Given the description of an element on the screen output the (x, y) to click on. 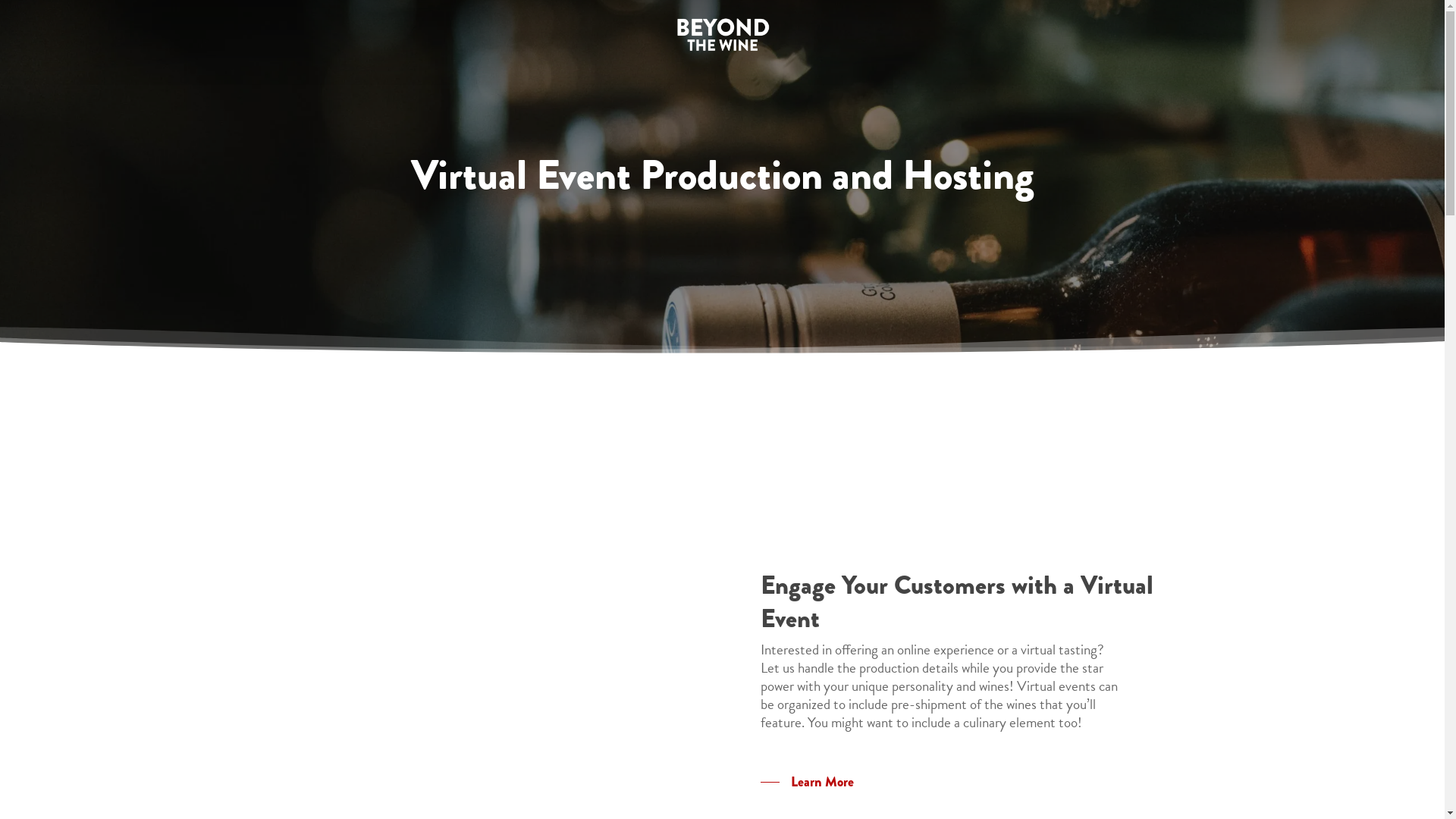
Learn More Element type: text (806, 781)
